Given the description of an element on the screen output the (x, y) to click on. 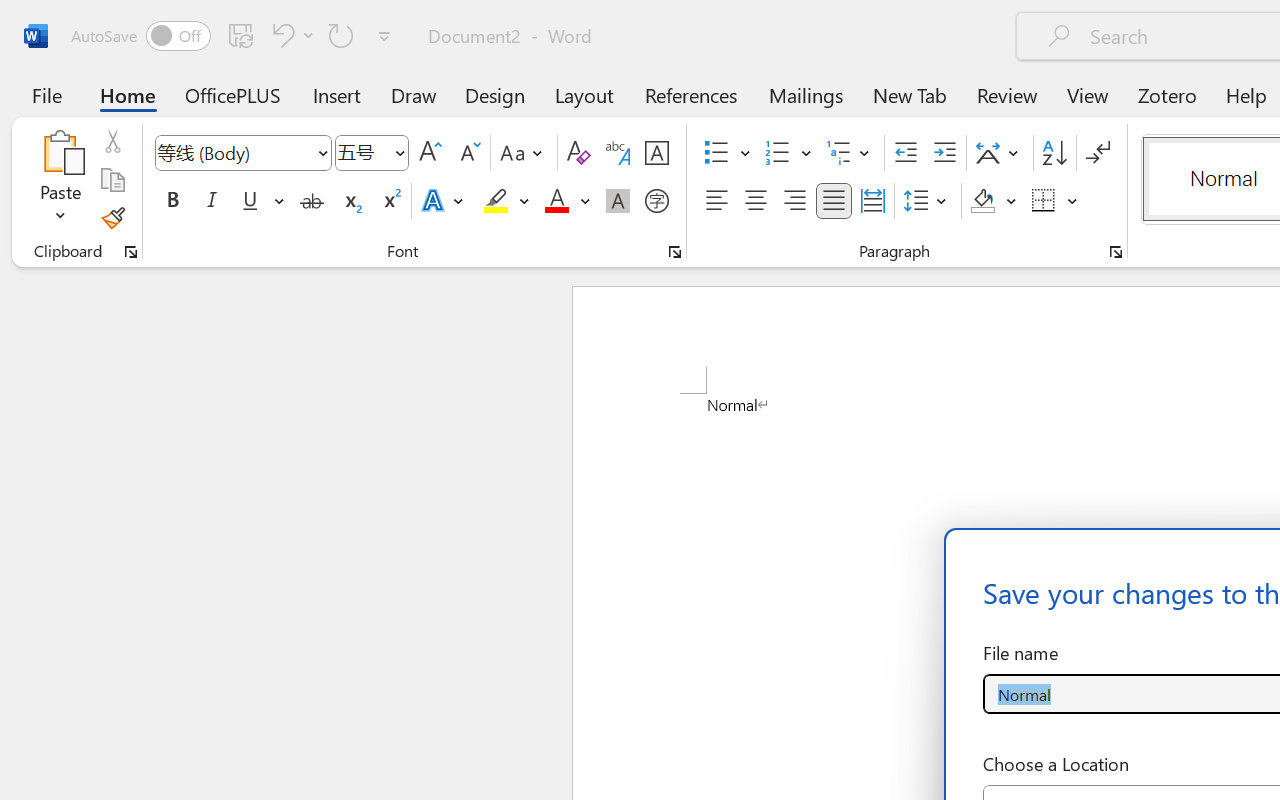
Undo Apply Quick Style (280, 35)
Sort... (1054, 153)
